Given the description of an element on the screen output the (x, y) to click on. 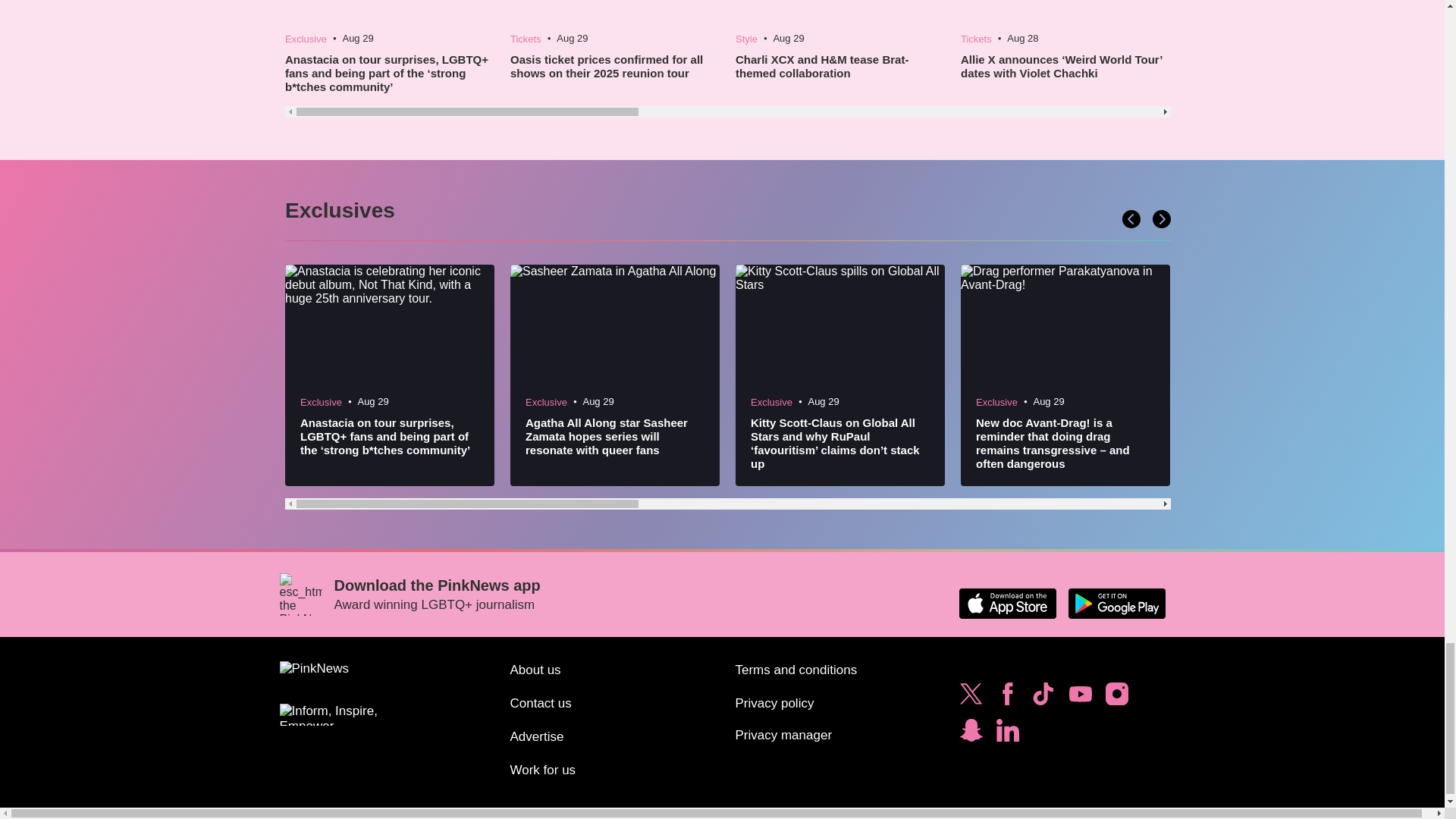
Download the PinkNews app on the Apple App Store (1006, 603)
Follow PinkNews on LinkedIn (1007, 733)
Download the PinkNews app on Google Play (1115, 603)
Follow PinkNews on Instagram (1116, 697)
Follow PinkNews on TikTok (1042, 697)
Follow PinkNews on Twitter (970, 697)
Subscribe to PinkNews on YouTube (1079, 697)
Subscribe to PinkNews on Snapchat (970, 733)
